Given the description of an element on the screen output the (x, y) to click on. 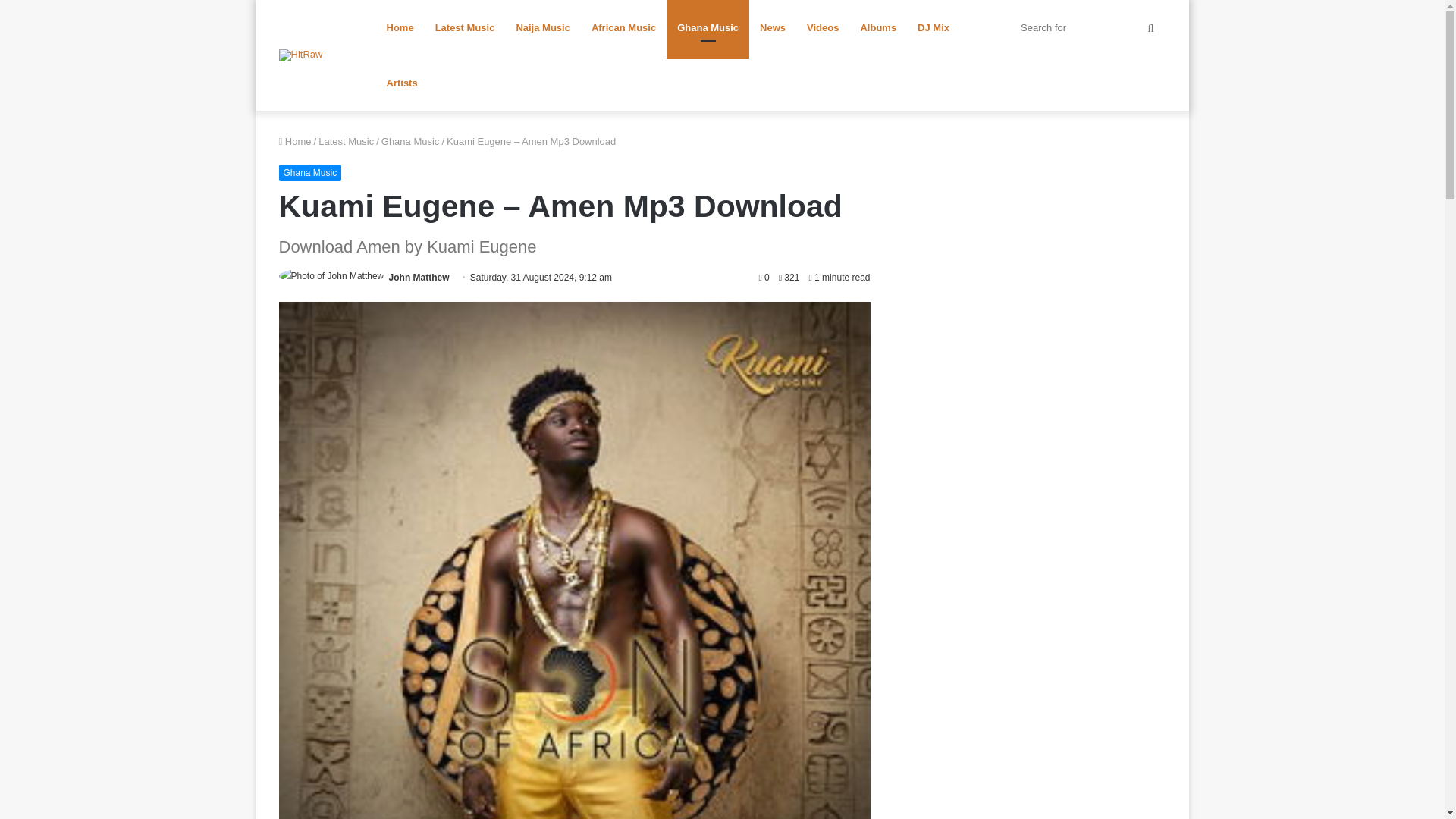
Artists (401, 82)
John Matthew (418, 276)
Videos (822, 27)
Home (295, 141)
John Matthew (418, 276)
Ghana Music (707, 27)
Ghana Music (310, 172)
Ghana Music (410, 141)
Naija Music (542, 27)
Search for (1088, 27)
